Given the description of an element on the screen output the (x, y) to click on. 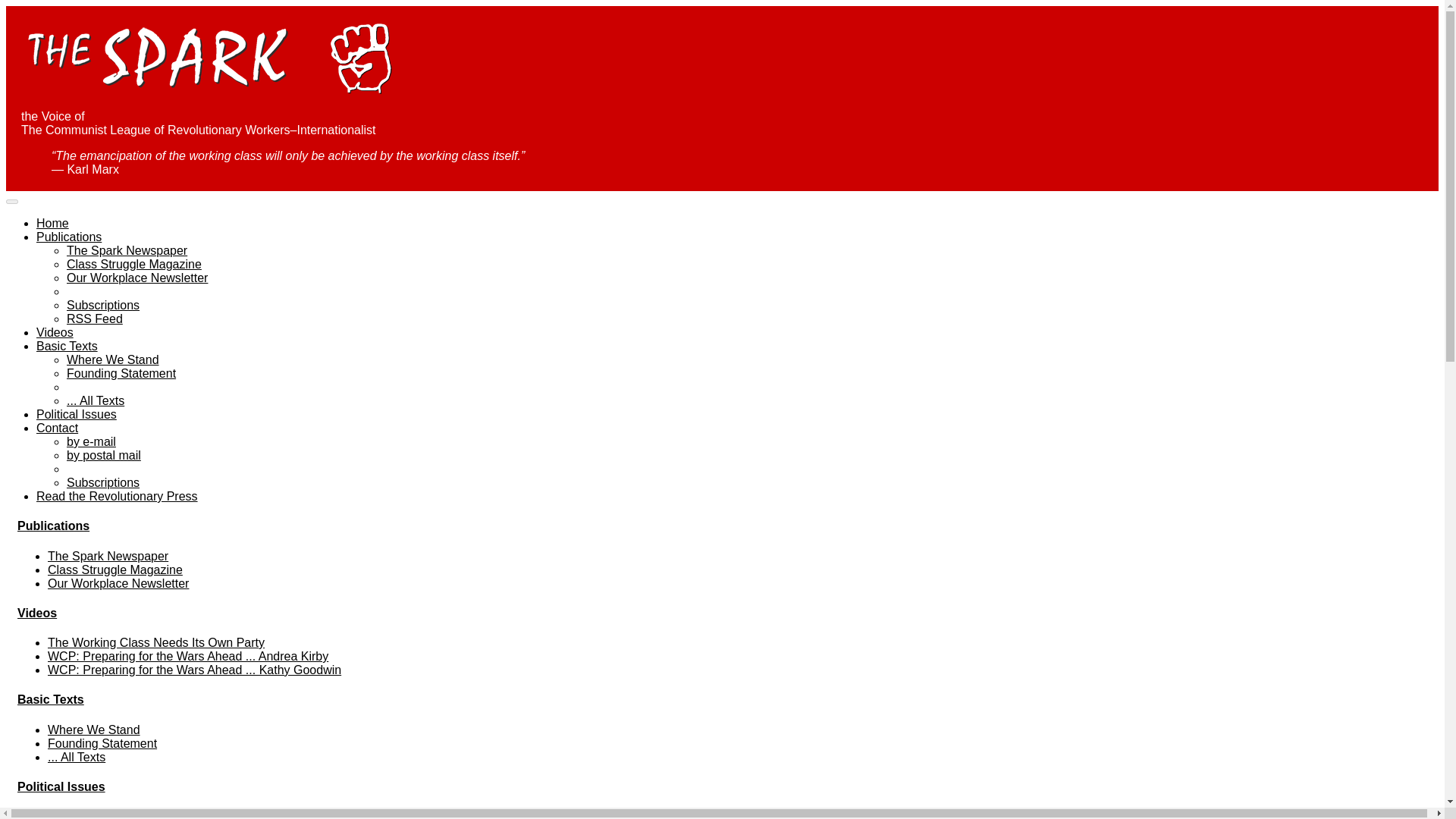
Basic Texts (66, 345)
Our Workplace Newsletter (118, 583)
... All Texts (94, 400)
... All Texts (76, 757)
Political Issues (60, 786)
The Working Class Needs Its Own Party (156, 642)
Political Issues (76, 413)
RSS Feed (94, 318)
by e-mail (91, 440)
by postal mail (103, 454)
